Given the description of an element on the screen output the (x, y) to click on. 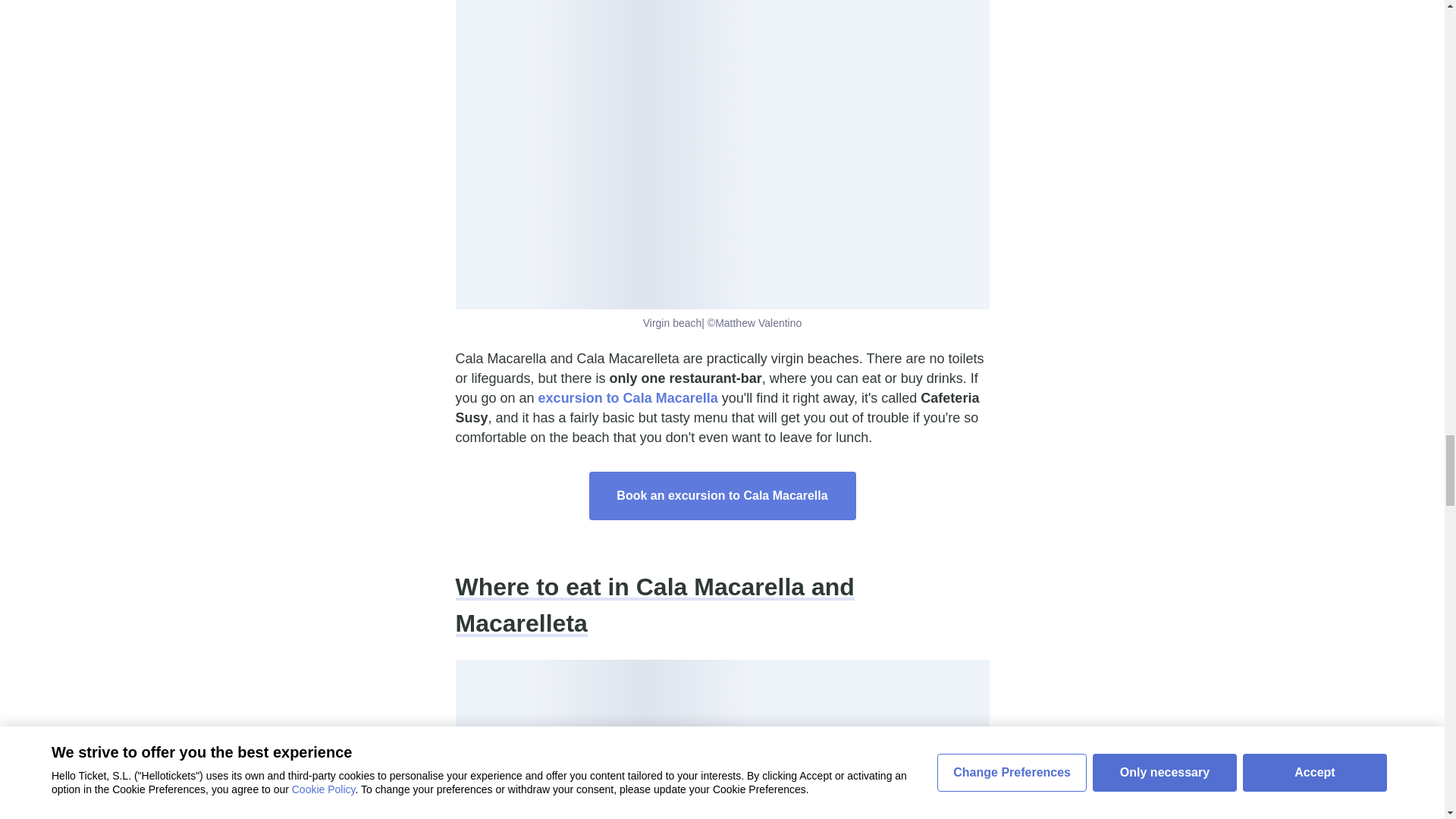
excursion to Cala Macarella (627, 397)
Book an excursion to Cala Macarella (722, 495)
